Given the description of an element on the screen output the (x, y) to click on. 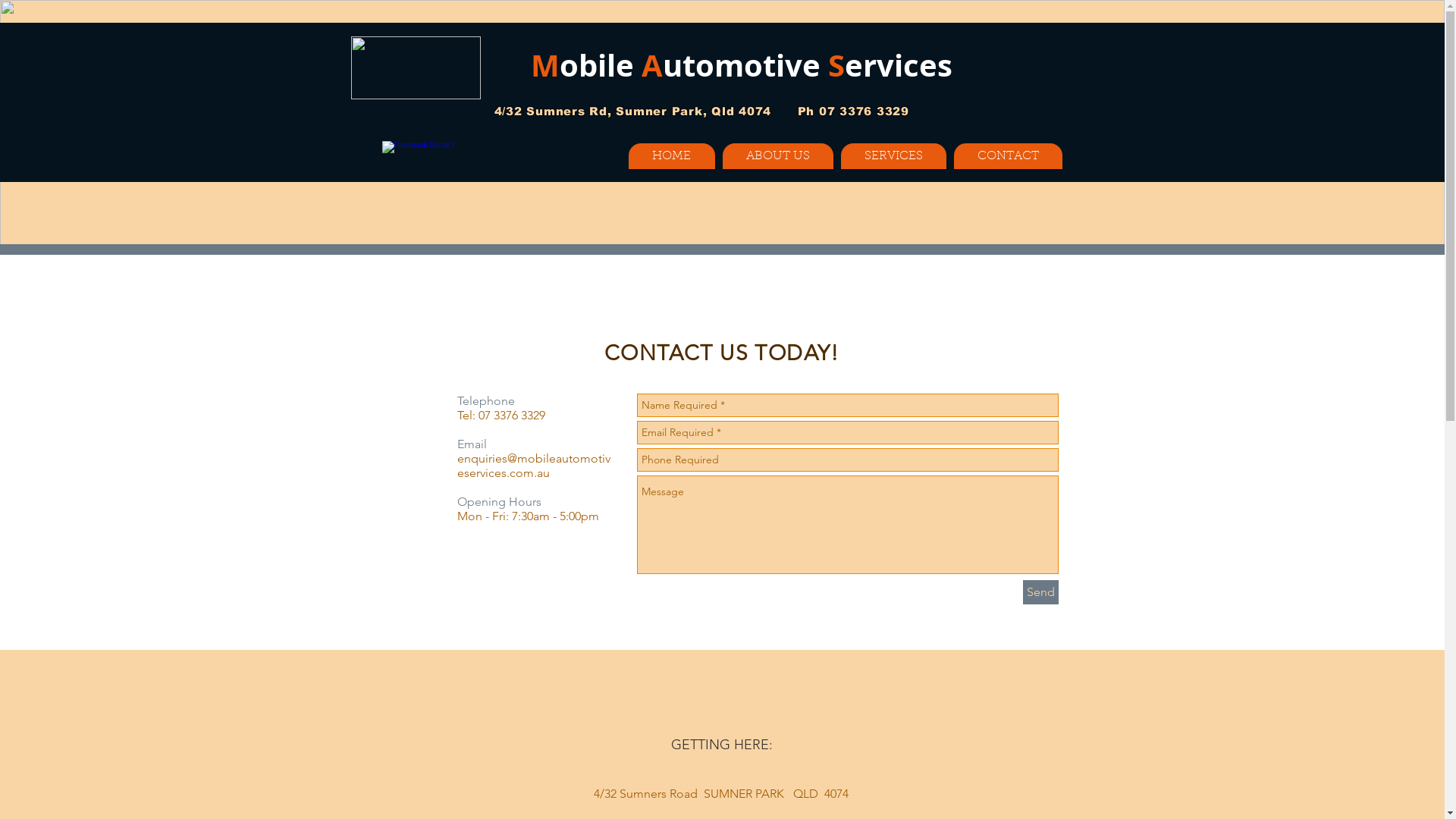
enquiries@mobileautomotiveservices.com.au Element type: text (532, 465)
ABOUT US Element type: text (776, 156)
Send Element type: text (1039, 592)
CONTACT Element type: text (1007, 156)
HOME Element type: text (670, 156)
SERVICES Element type: text (892, 156)
